Given the description of an element on the screen output the (x, y) to click on. 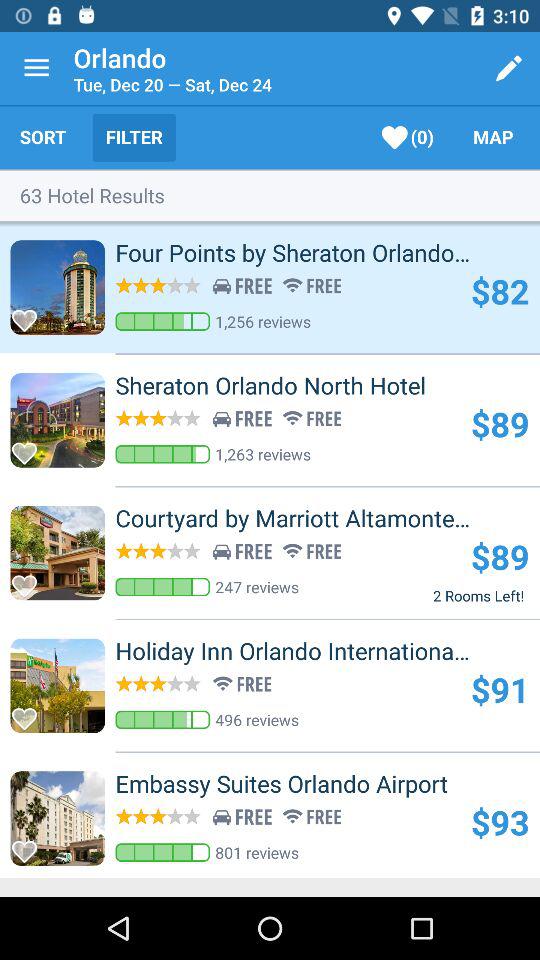
launch the 801 reviews icon (257, 852)
